Given the description of an element on the screen output the (x, y) to click on. 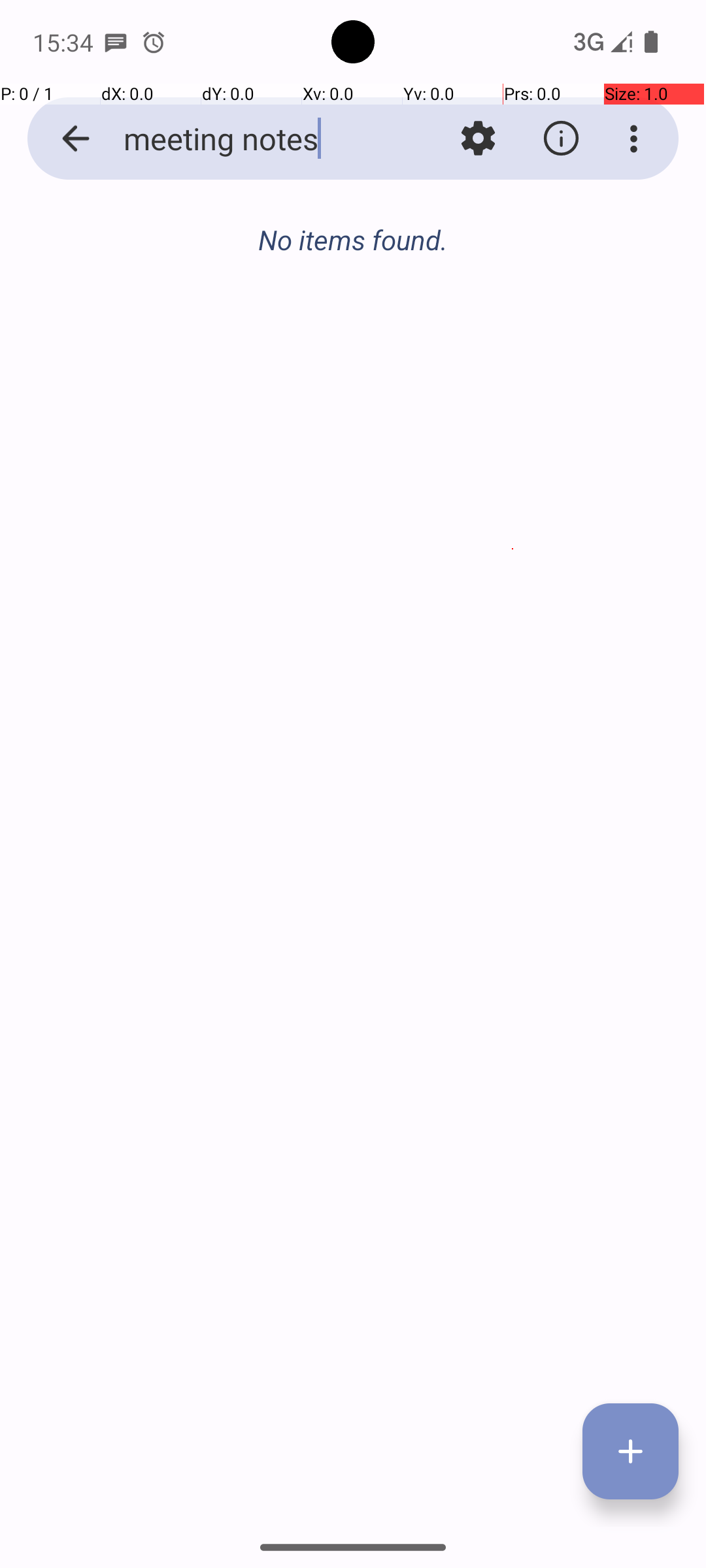
meeting notes Element type: android.widget.EditText (252, 138)
+15713179390 Element type: android.widget.TextView (408, 242)
Don't forget to water the plants while I'm away. Element type: android.widget.TextView (408, 281)
+11539603318 Element type: android.widget.TextView (408, 412)
Cleanliness is next to godliness. Element type: android.widget.TextView (408, 450)
+10499216643 Element type: android.widget.TextView (408, 581)
+15705921269 Element type: android.widget.TextView (408, 750)
The early bird catches the worm. Element type: android.widget.TextView (408, 789)
